Given the description of an element on the screen output the (x, y) to click on. 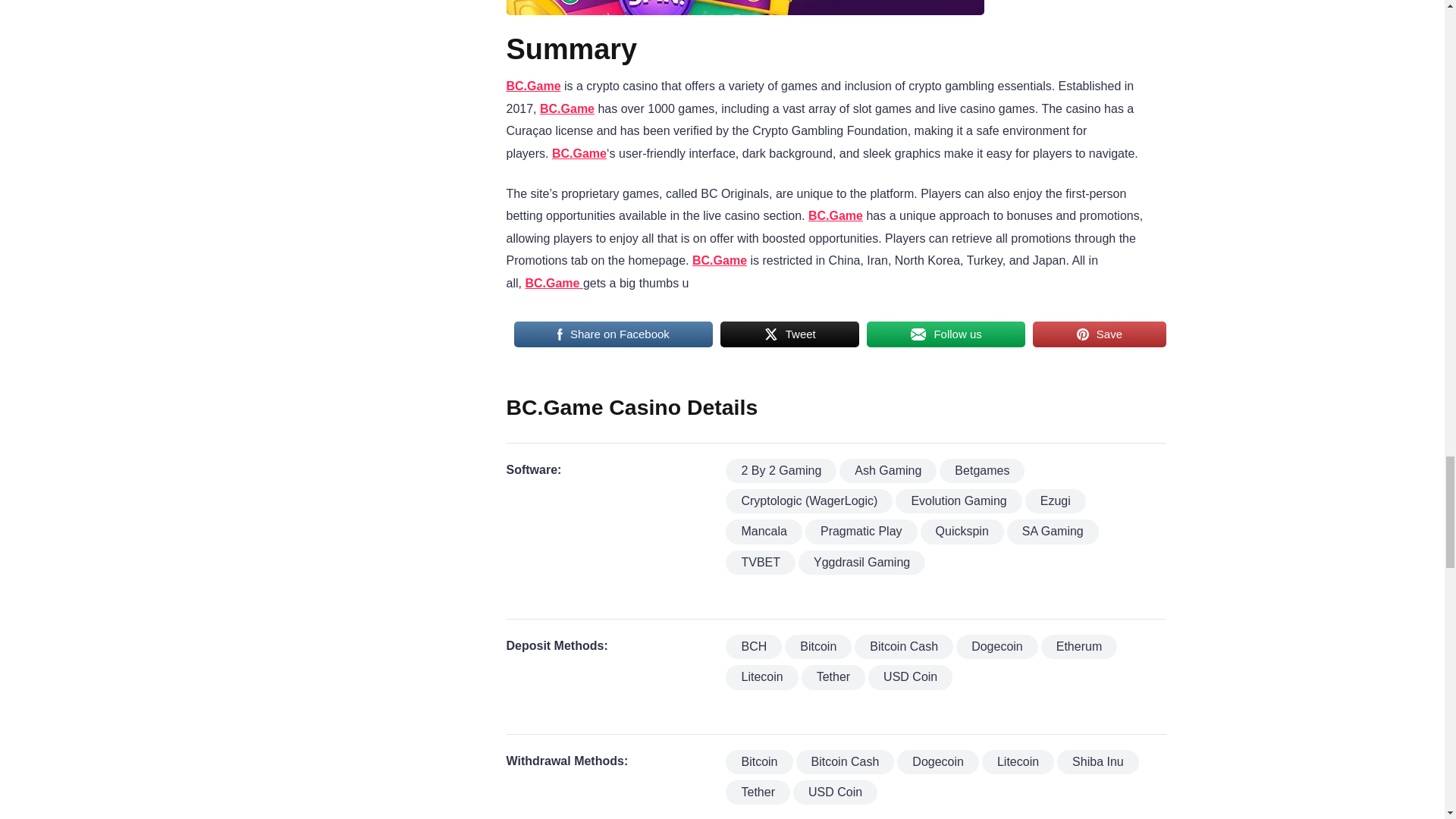
Quickspin (962, 531)
Ash Gaming (888, 470)
Betgames (982, 470)
BCH (753, 646)
Ezugi (1055, 500)
Pragmatic Play (861, 531)
SA Gaming (1053, 531)
2 By 2 Gaming (780, 470)
Mancala (763, 531)
TVBET (759, 562)
